Given the description of an element on the screen output the (x, y) to click on. 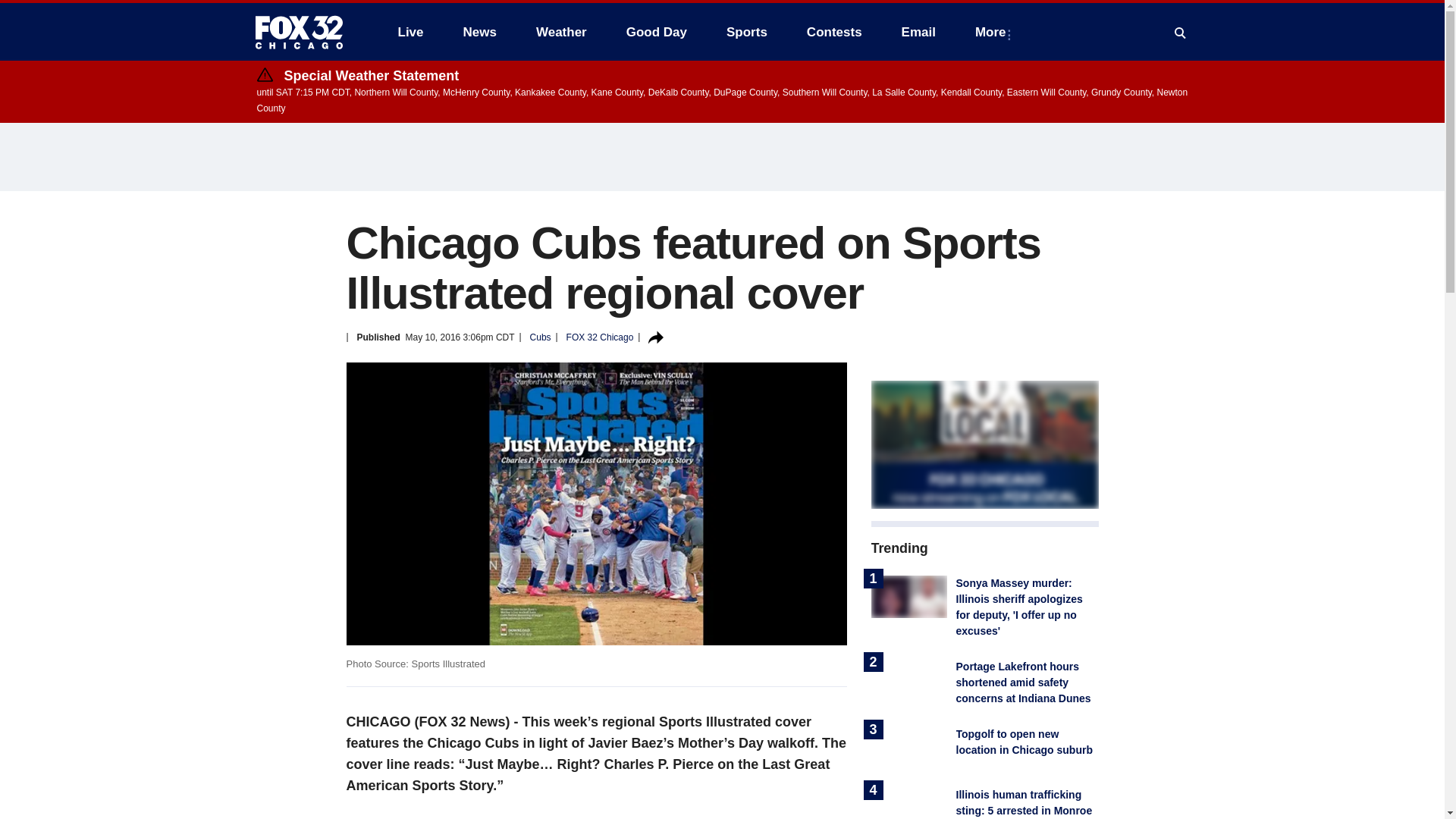
More (993, 32)
Good Day (656, 32)
News (479, 32)
Live (410, 32)
Sports (746, 32)
Email (918, 32)
Contests (834, 32)
Weather (561, 32)
